Given the description of an element on the screen output the (x, y) to click on. 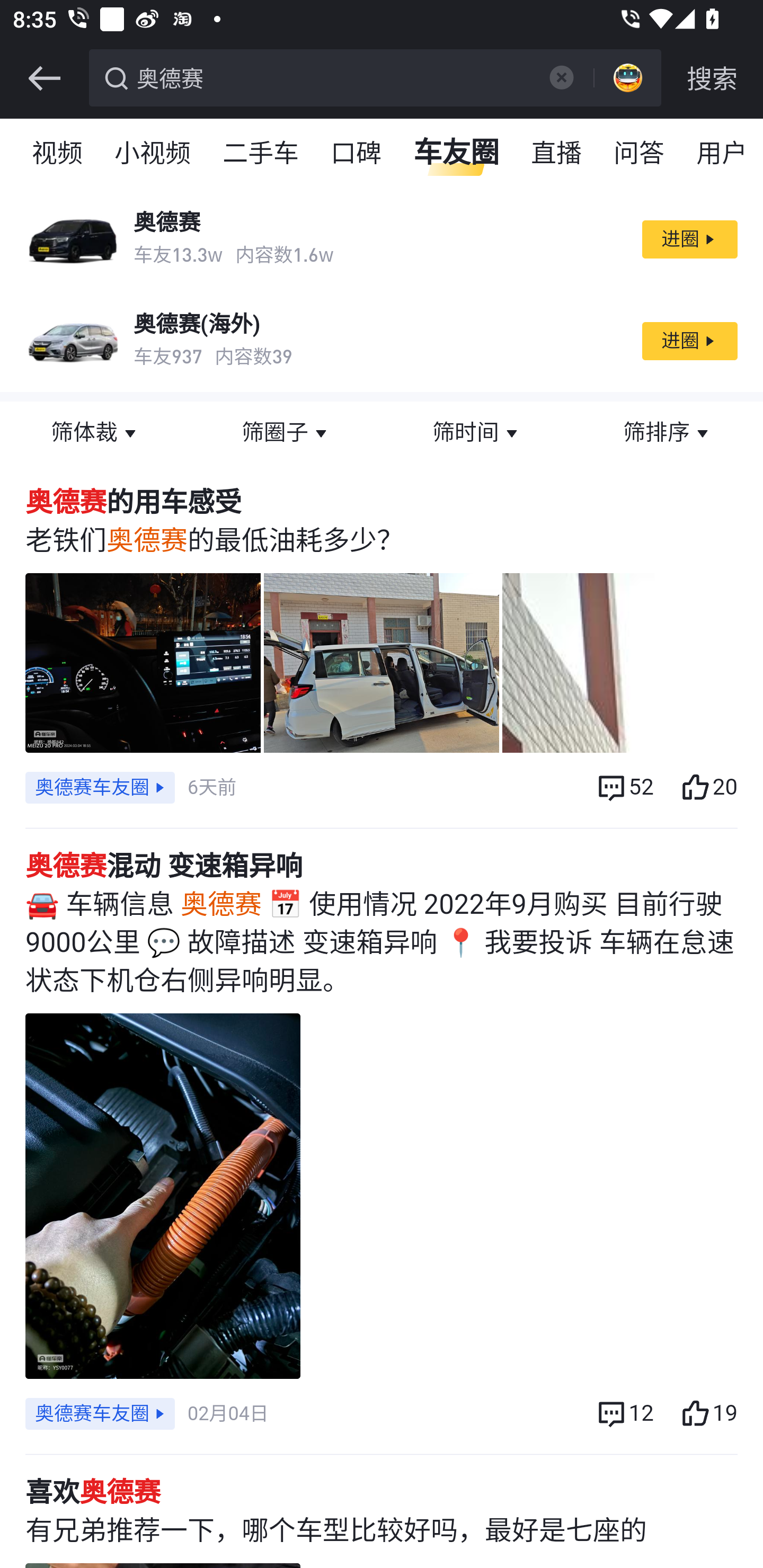
奥德赛 (331, 76)
 (560, 77)
 (44, 78)
搜索 (711, 78)
视频 (57, 153)
小视频 (153, 153)
二手车 (261, 153)
口碑 (356, 153)
车友圈 (456, 153)
直播 (556, 153)
问答 (639, 153)
用户 (721, 153)
奥德赛 车友13.3w内容数1.6w 进圈 (381, 239)
进圈 (688, 239)
奥德赛(海外) 车友937内容数39 进圈 (381, 341)
进圈 (688, 340)
筛体裁 (95, 433)
筛圈子 (285, 433)
筛时间 (476, 433)
筛排序 (667, 433)
奥德赛车友圈 6天前 (130, 786)
52 (624, 786)
20 (708, 786)
奥德赛车友圈 02月04日 (146, 1414)
12 (624, 1414)
19 (708, 1414)
